Given the description of an element on the screen output the (x, y) to click on. 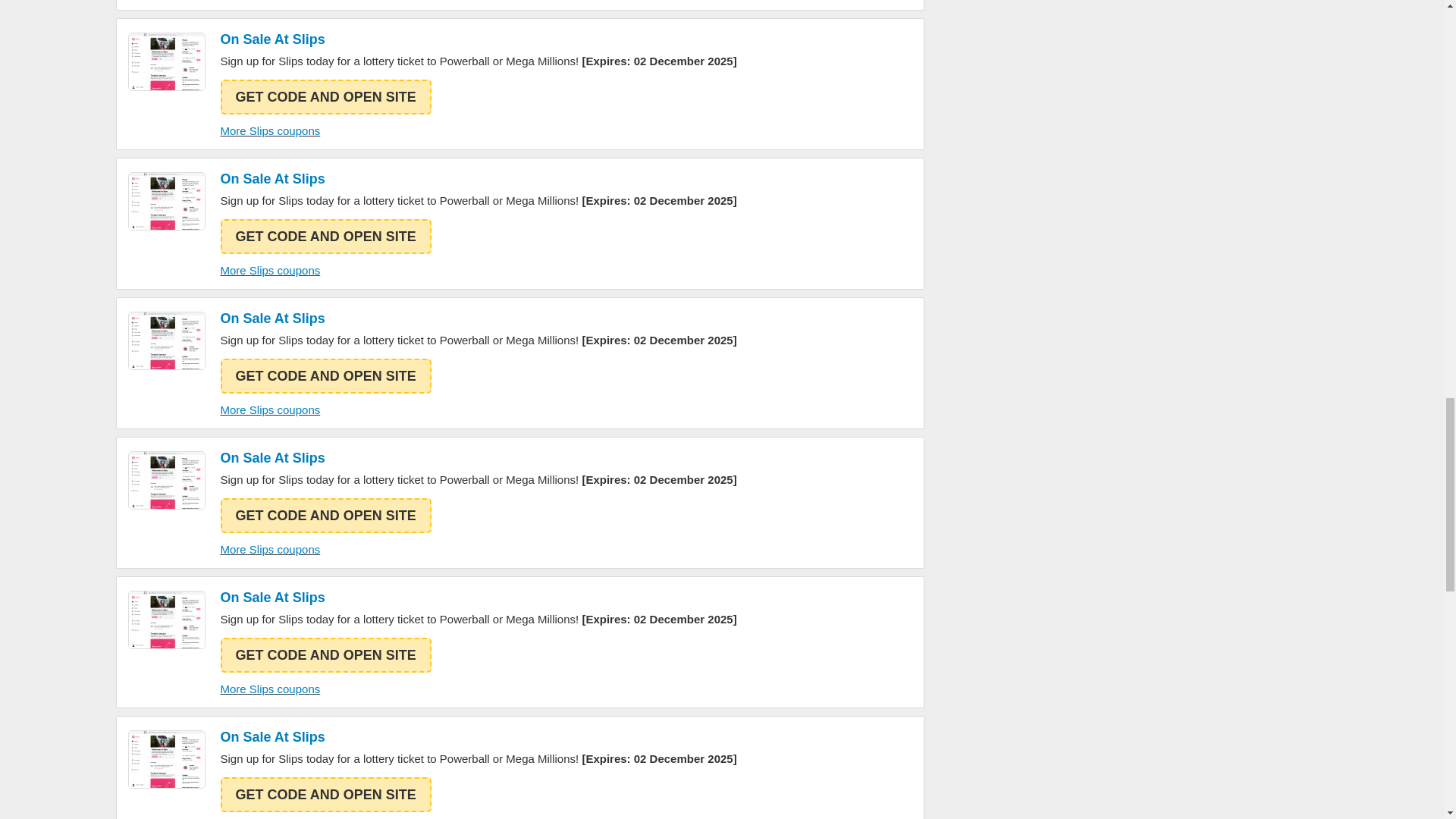
Slips Coupons (166, 619)
Slips Coupons (166, 480)
Slips Coupons (166, 200)
Slips Coupons (166, 759)
Slips Coupons (166, 341)
Slips Coupons (166, 61)
